Given the description of an element on the screen output the (x, y) to click on. 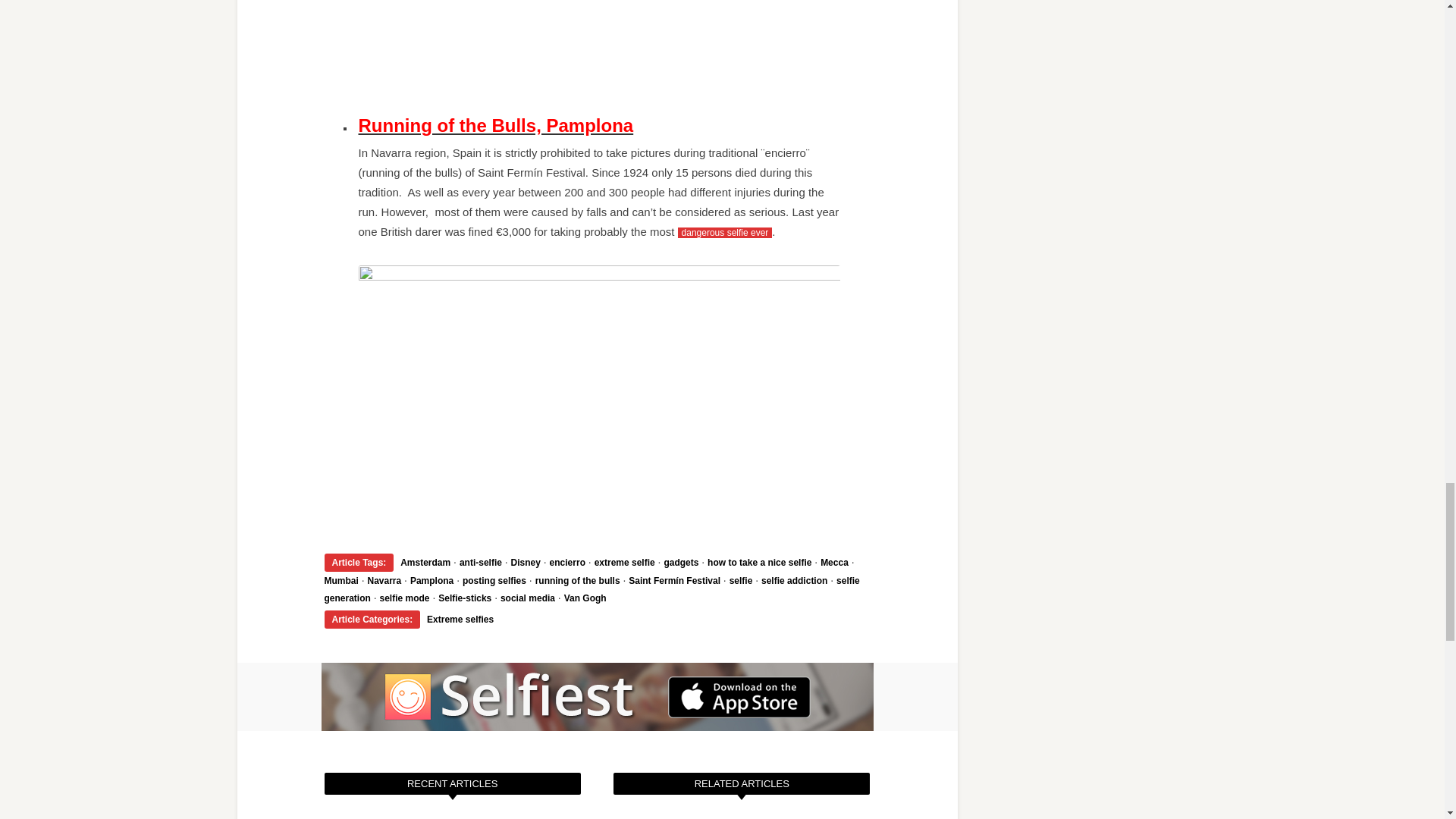
extreme selfie (624, 562)
anti-selfie (481, 562)
Selfie-sticks (465, 597)
Mumbai (341, 580)
Amsterdam (424, 562)
selfie mode (404, 597)
posting selfies (494, 580)
Disney (525, 562)
Van Gogh (585, 597)
running of the bulls (577, 580)
encierro (567, 562)
Pamplona (431, 580)
Navarra (384, 580)
social media (527, 597)
Mecca (834, 562)
